Given the description of an element on the screen output the (x, y) to click on. 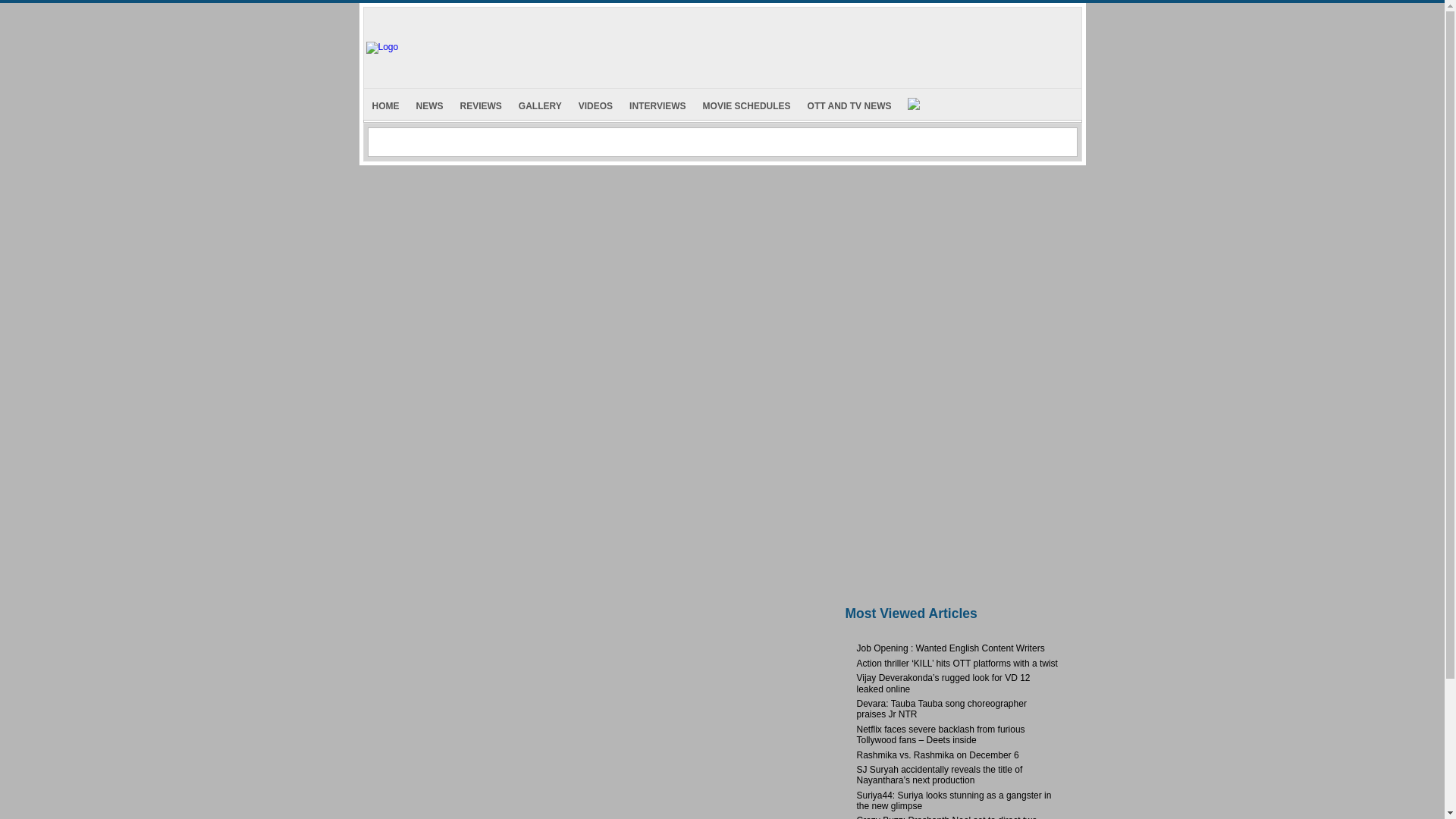
Job Opening : Wanted English Content Writers (951, 647)
INTERVIEWS (657, 103)
OTT AND TV NEWS (849, 103)
Devara: Tauba Tauba song choreographer praises Jr NTR (941, 708)
REVIEWS (481, 103)
GALLERY (540, 103)
NEWS (429, 103)
VIDEOS (595, 103)
HOME (385, 103)
MOVIE SCHEDULES (746, 103)
Rashmika vs. Rashmika on December 6 (938, 755)
